Given the description of an element on the screen output the (x, y) to click on. 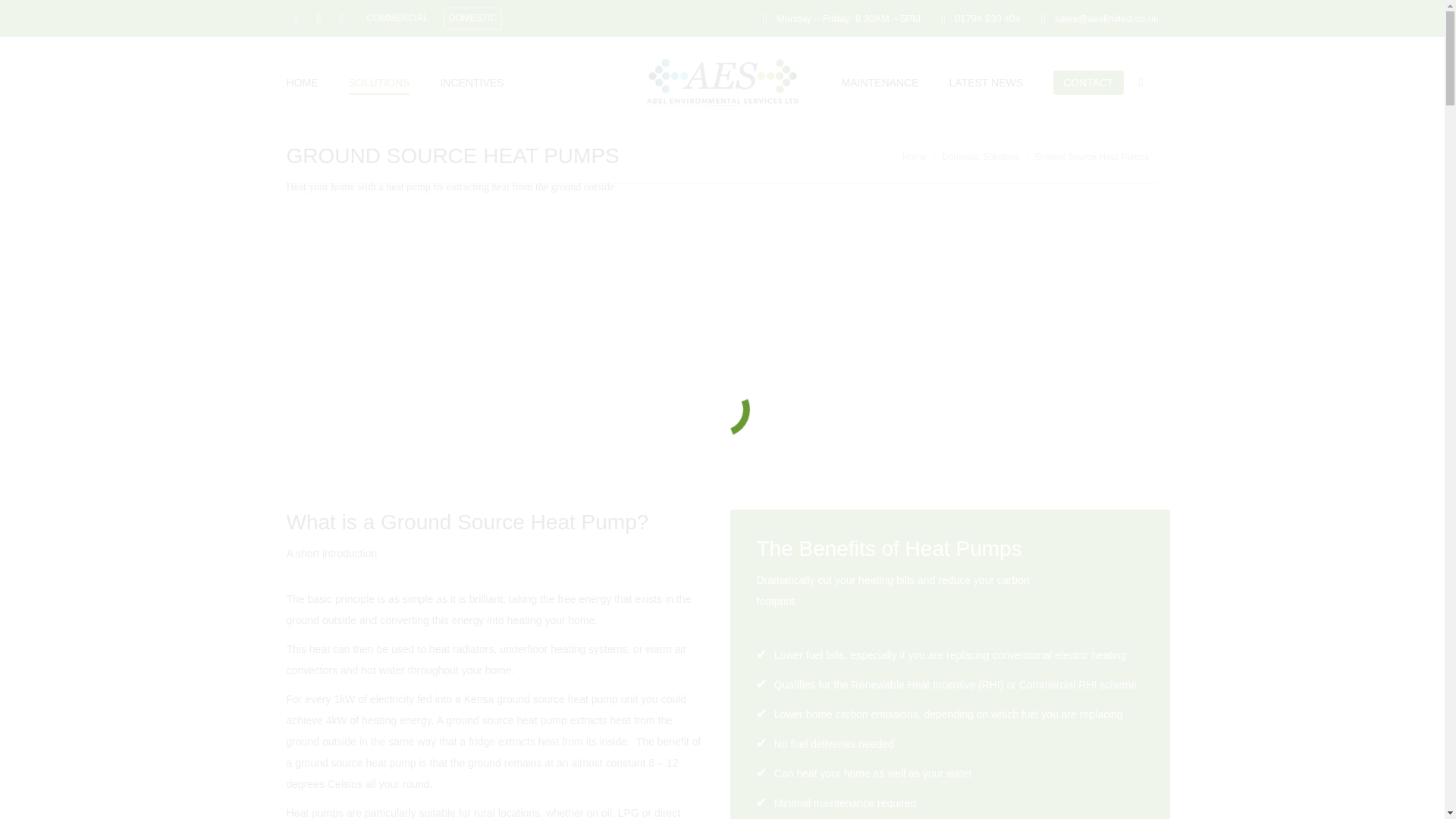
DOMESTIC (473, 18)
Domestic Solutions (981, 156)
Facebook page opens in new window (295, 18)
CONTACT (1088, 82)
X page opens in new window (318, 18)
X page opens in new window (318, 18)
COMMERCIAL (397, 18)
Go! (19, 14)
Home (914, 156)
LATEST NEWS (986, 82)
